Given the description of an element on the screen output the (x, y) to click on. 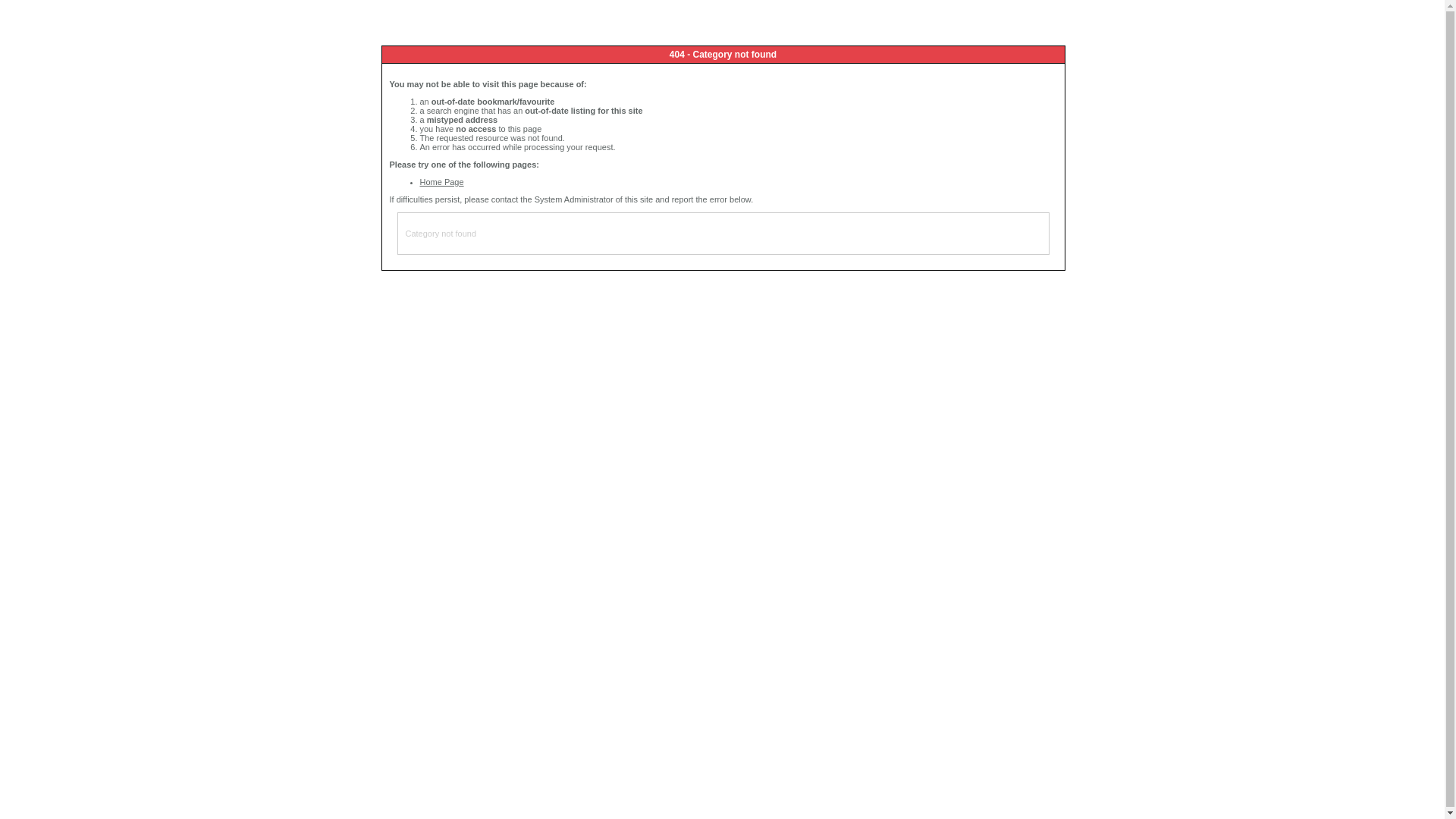
Home Page Element type: text (442, 181)
